Given the description of an element on the screen output the (x, y) to click on. 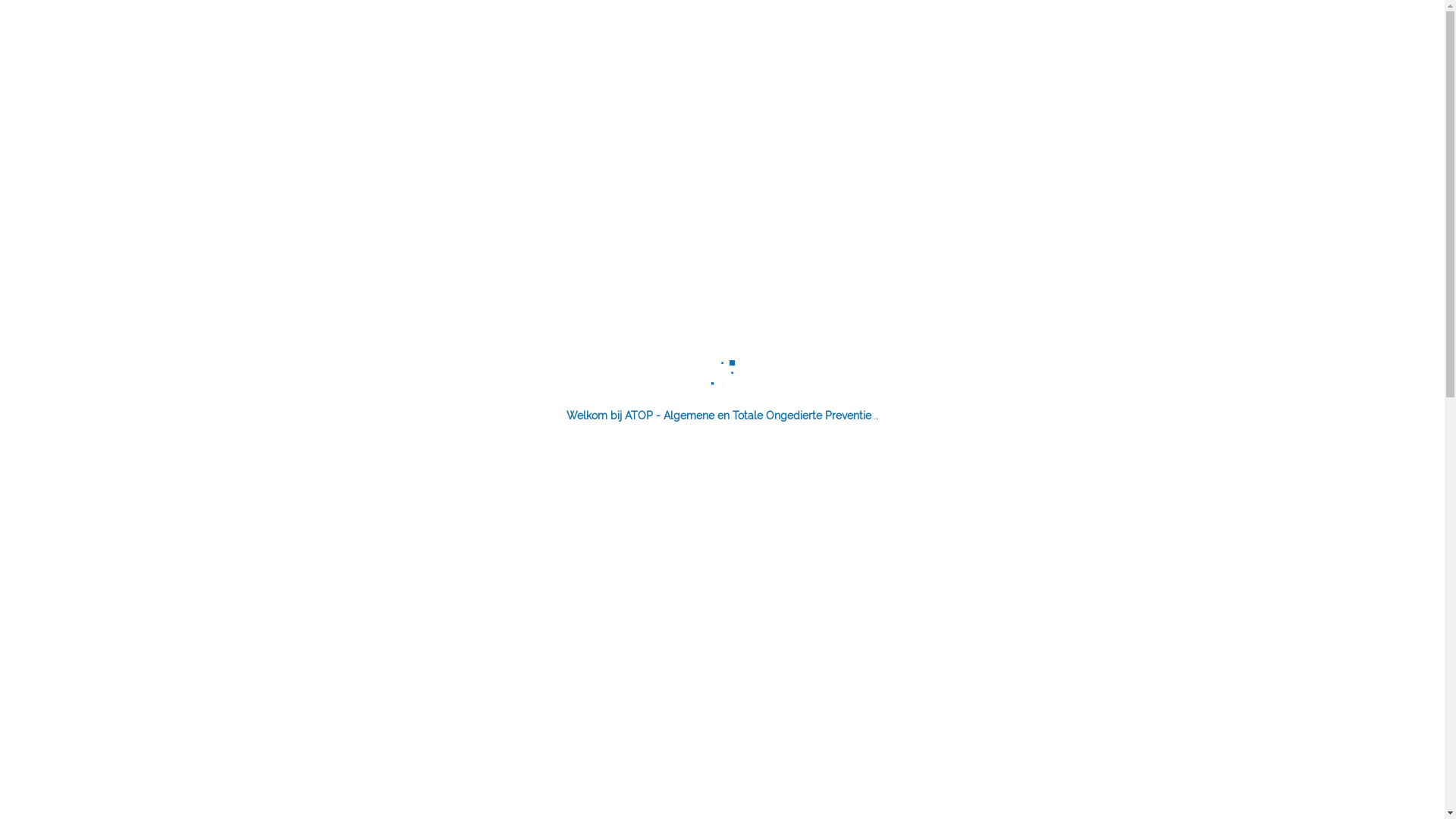
ATOP Element type: hover (323, 57)
ONGEDIERTEBESTRIJDING Element type: text (946, 43)
Search Element type: text (20, 8)
Home Element type: text (283, 125)
MENU Element type: text (1139, 43)
ONGEDIERTEPREVENTIE Element type: text (786, 43)
LOGIN Element type: text (1066, 43)
info@atop.be Element type: text (494, 770)
(c) ATOP bv Element type: hover (304, 146)
